Given the description of an element on the screen output the (x, y) to click on. 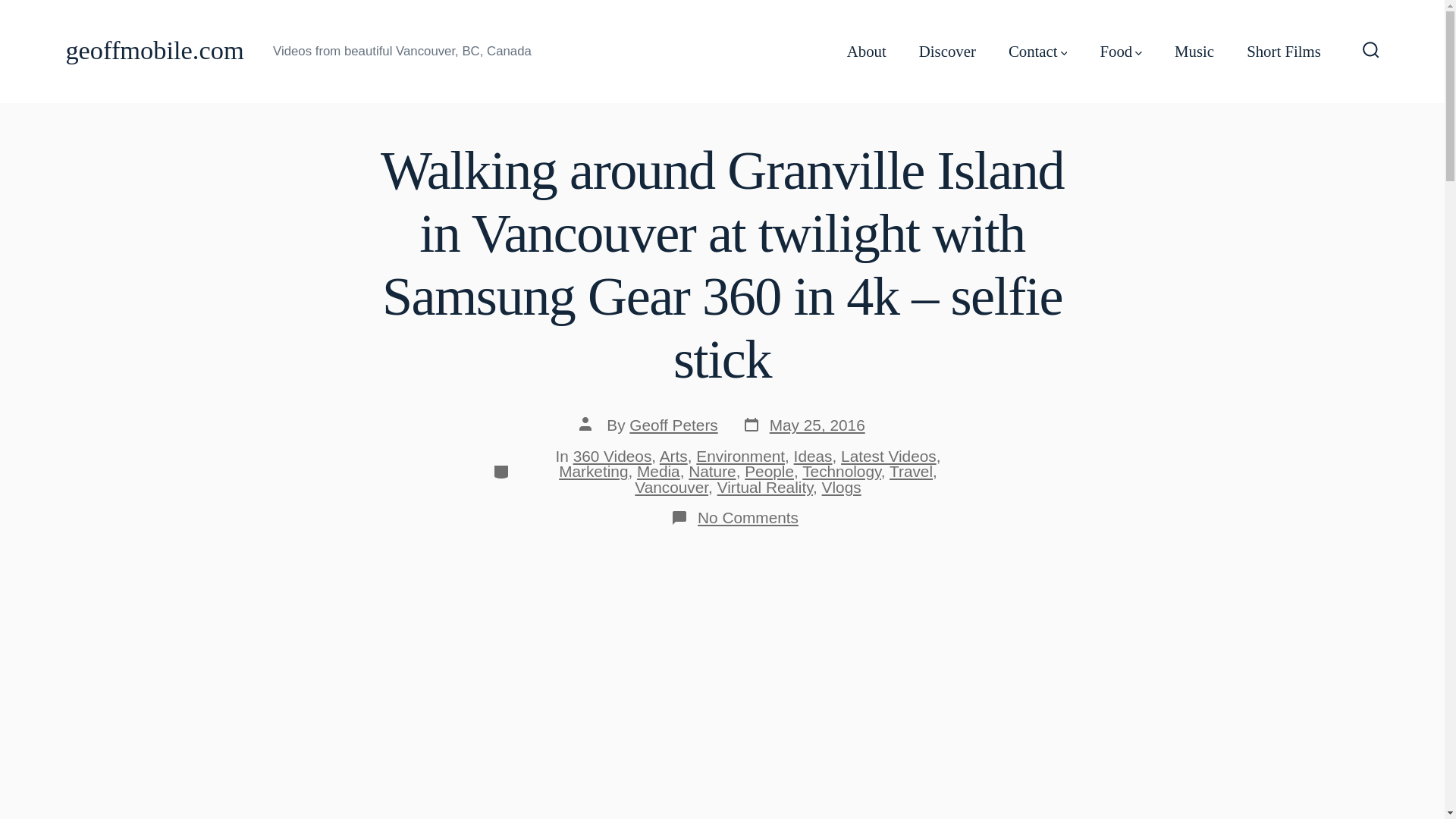
Geoff Peters (672, 425)
Search Toggle (1371, 50)
Media (658, 470)
Contact (1038, 51)
Nature (711, 470)
Ideas (812, 456)
Vancouver (670, 487)
Environment (739, 456)
Latest Videos (888, 456)
Travel (911, 470)
